Given the description of an element on the screen output the (x, y) to click on. 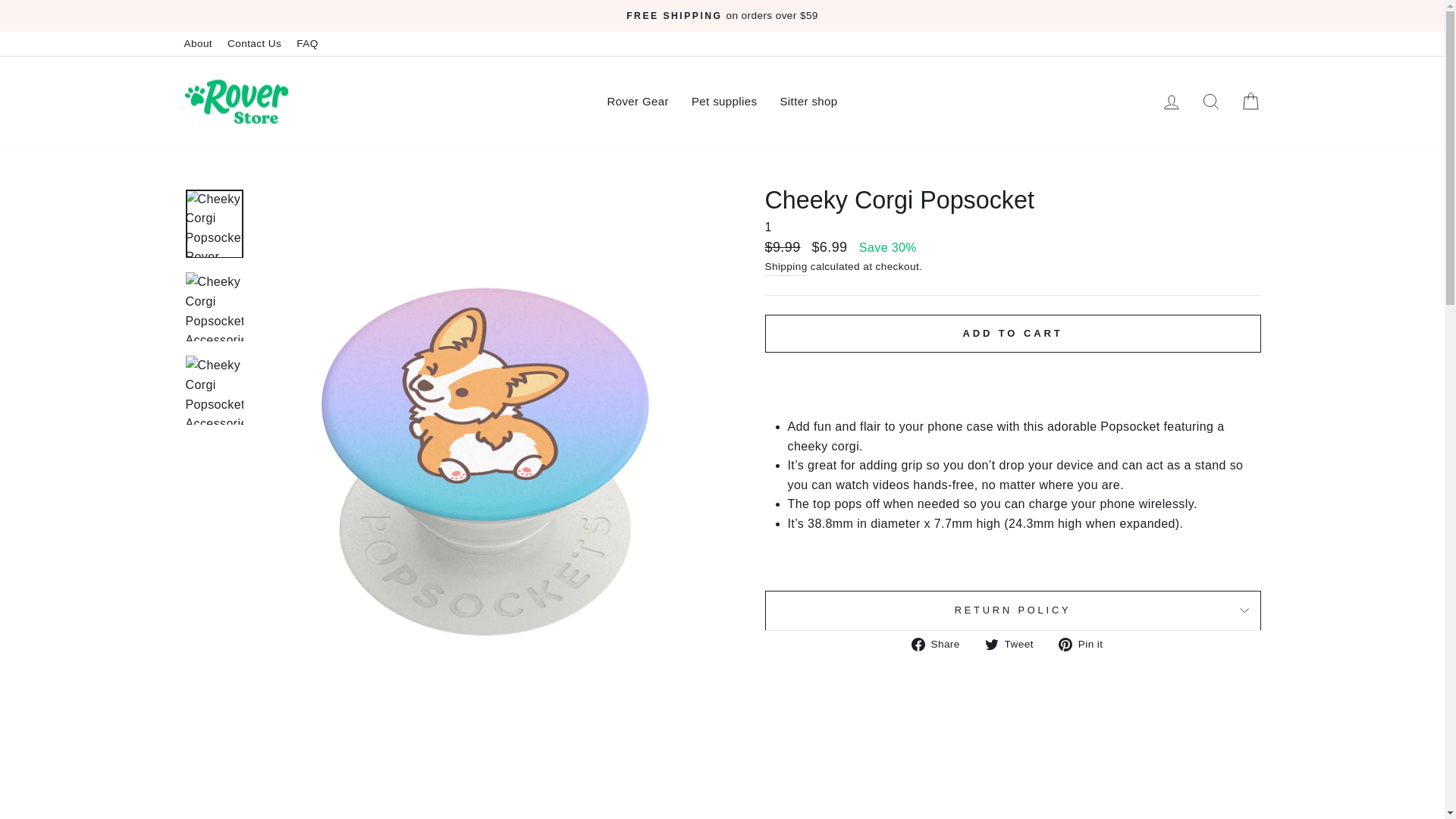
Share on Facebook (941, 644)
Rover Gear (637, 101)
FAQ (306, 43)
Pin on Pinterest (1085, 644)
About (197, 43)
Tweet on Twitter (1015, 644)
Contact Us (253, 43)
